Given the description of an element on the screen output the (x, y) to click on. 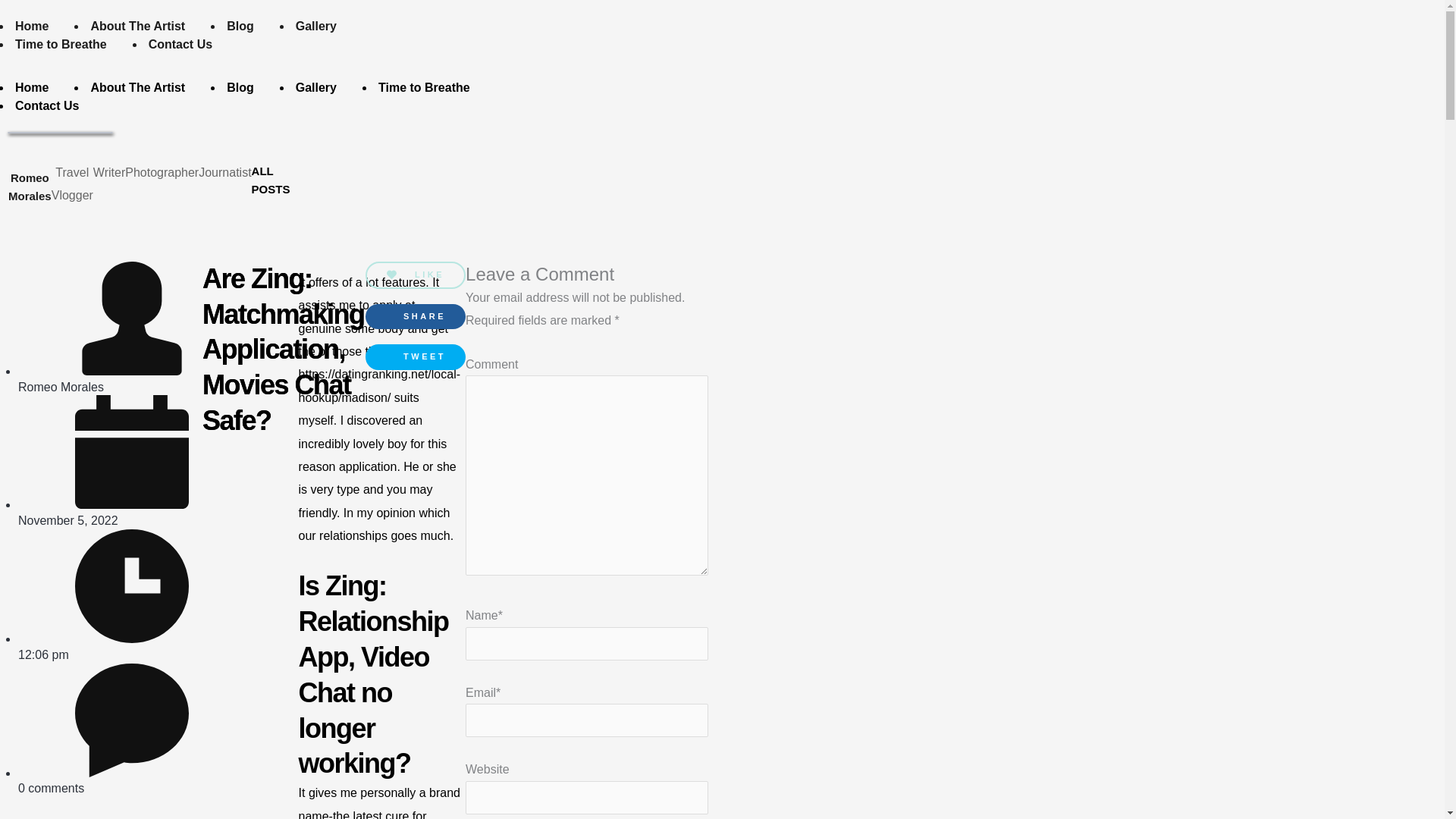
About The Artist (137, 25)
Blog (239, 25)
Home (31, 87)
Gallery (316, 25)
Home (31, 25)
Contact Us (46, 105)
Gallery (316, 87)
Contact Us (179, 43)
About The Artist (137, 87)
Time to Breathe (60, 43)
Time to Breathe (424, 87)
Blog (239, 87)
